Given the description of an element on the screen output the (x, y) to click on. 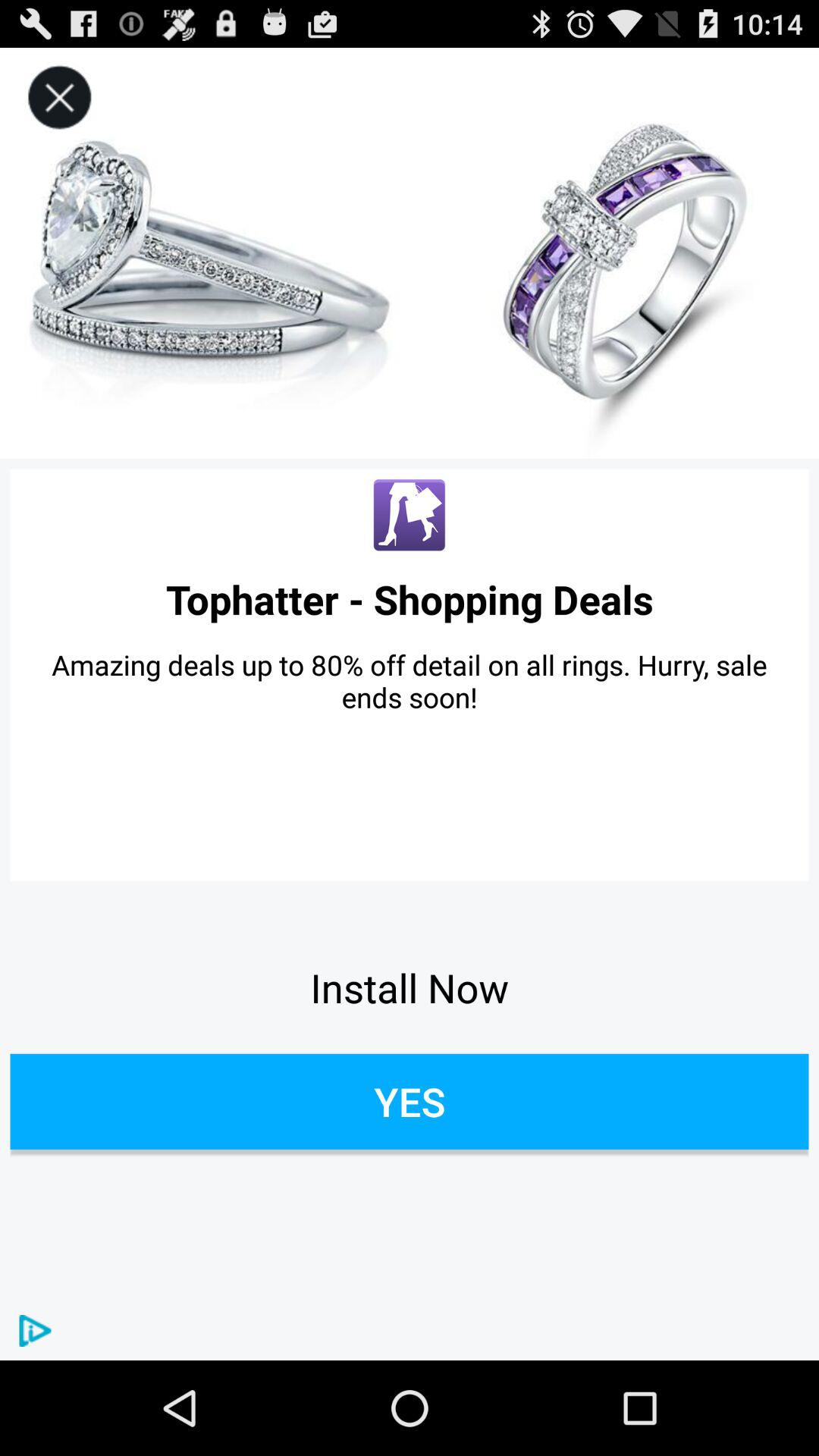
select icon above the tophatter - shopping deals (59, 97)
